Given the description of an element on the screen output the (x, y) to click on. 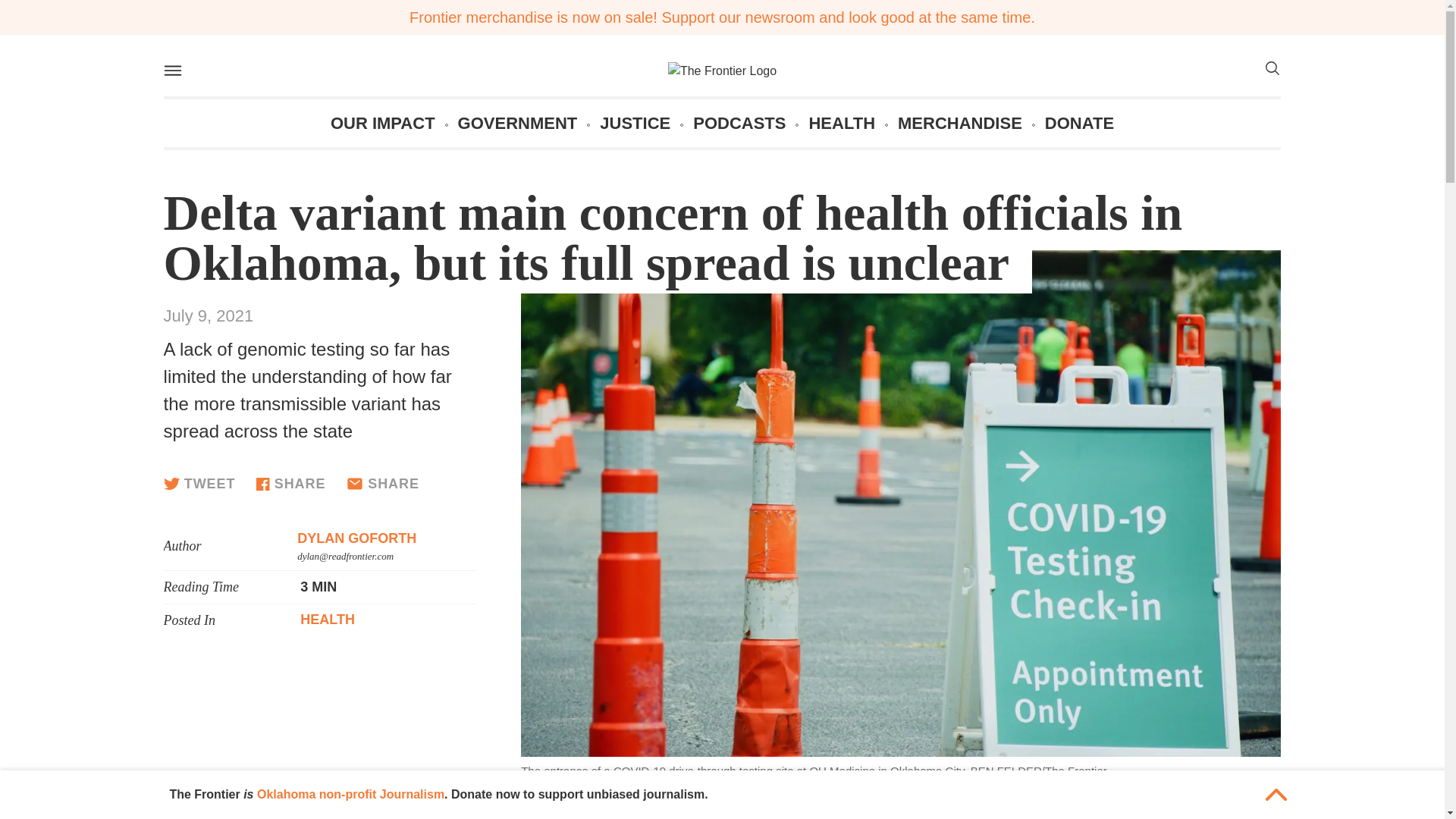
OUR IMPACT (382, 122)
PODCASTS (739, 122)
JUSTICE (634, 122)
MERCHANDISE (960, 122)
GOVERNMENT (518, 122)
SEARCH-OUTLINE (1271, 67)
DYLAN GOFORTH (356, 538)
SHARE (290, 483)
HEALTH (841, 122)
